Given the description of an element on the screen output the (x, y) to click on. 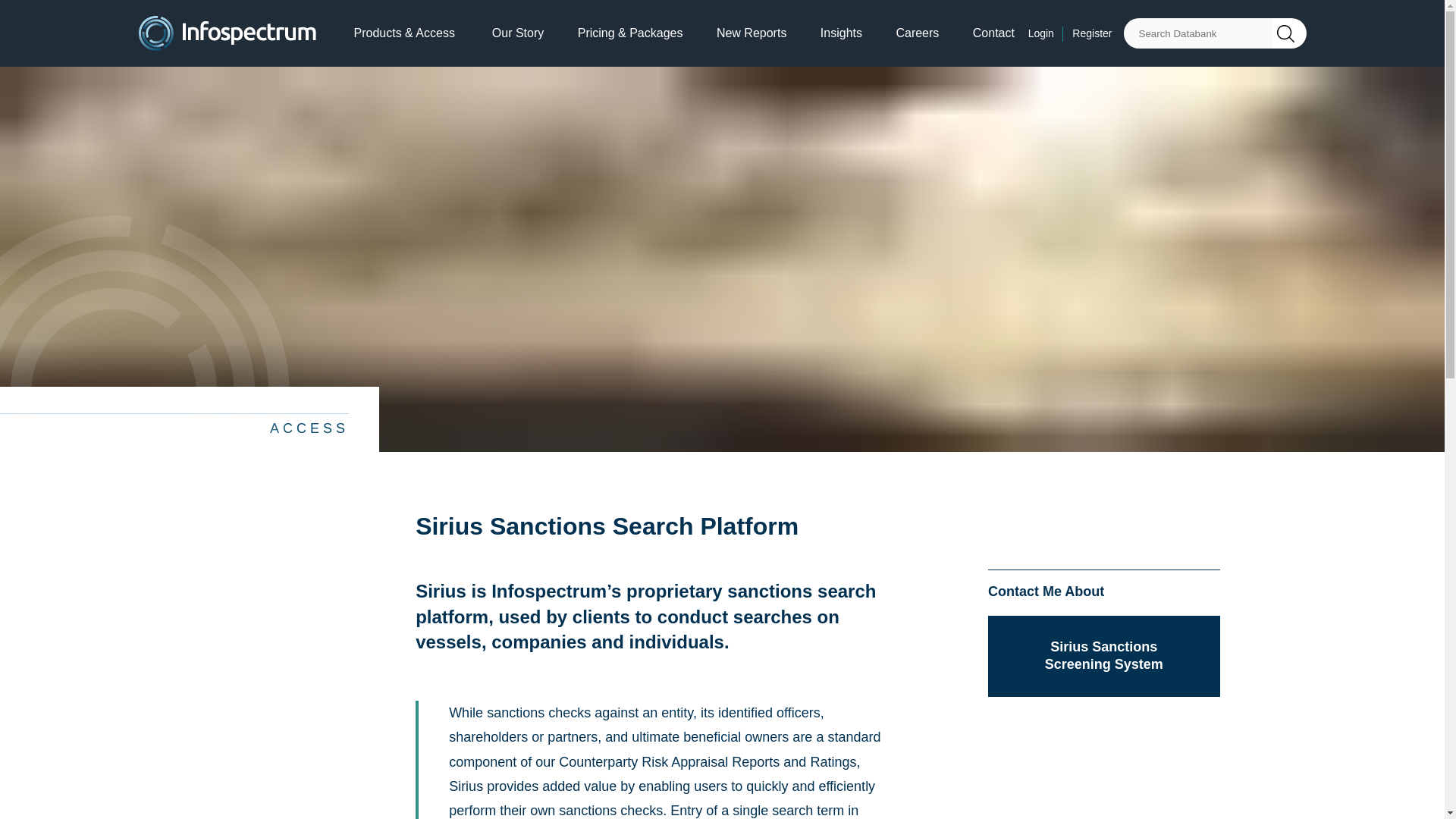
New Reports (751, 33)
Register (1091, 33)
search (1289, 33)
Login (1047, 33)
